Given the description of an element on the screen output the (x, y) to click on. 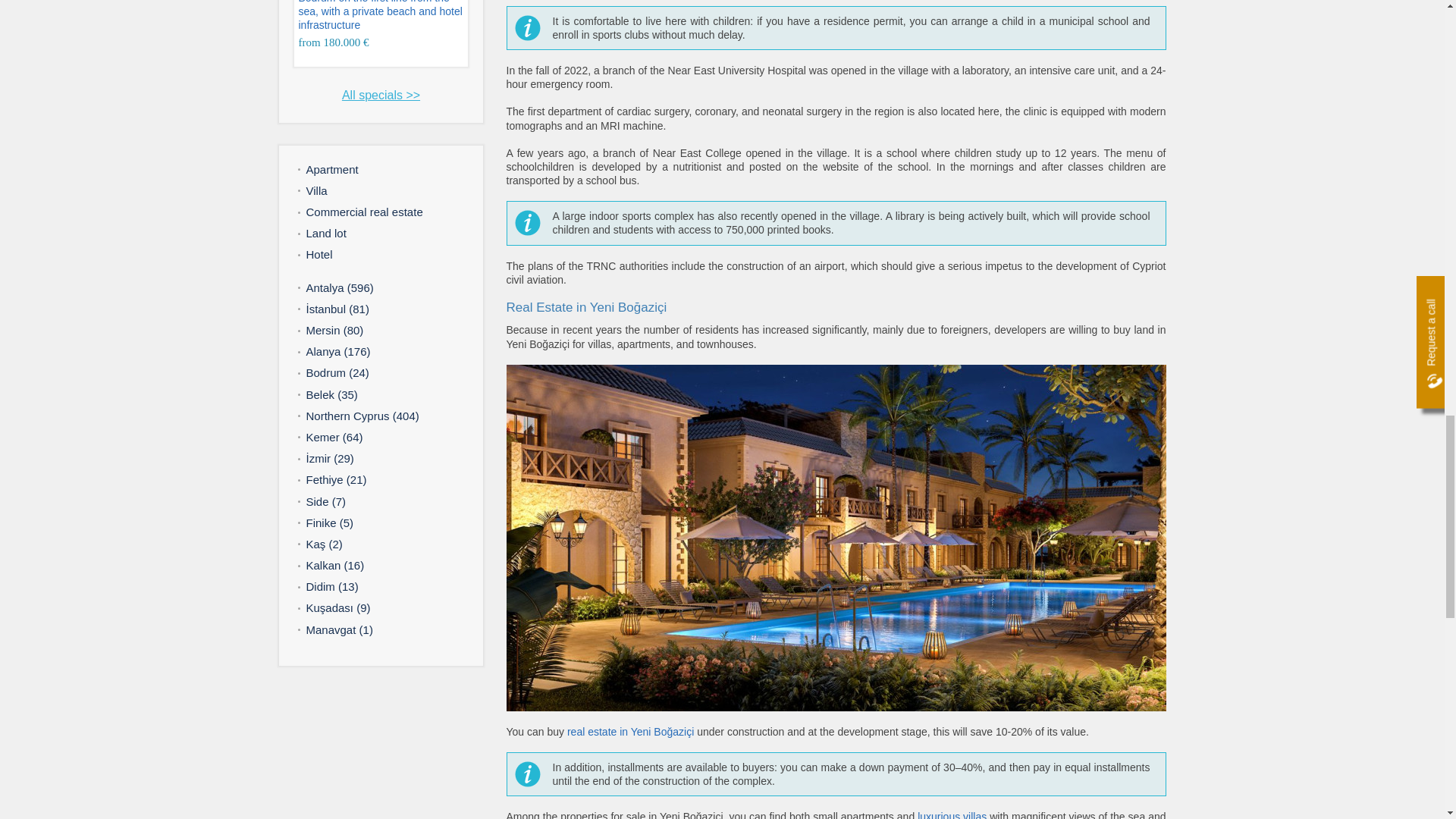
property turkey (381, 5)
